Given the description of an element on the screen output the (x, y) to click on. 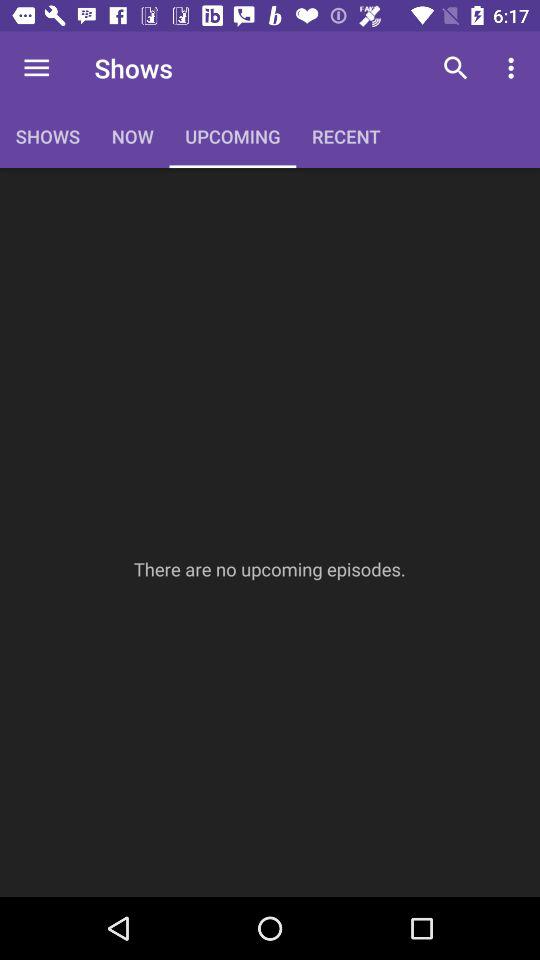
turn off the icon next to shows item (36, 68)
